Given the description of an element on the screen output the (x, y) to click on. 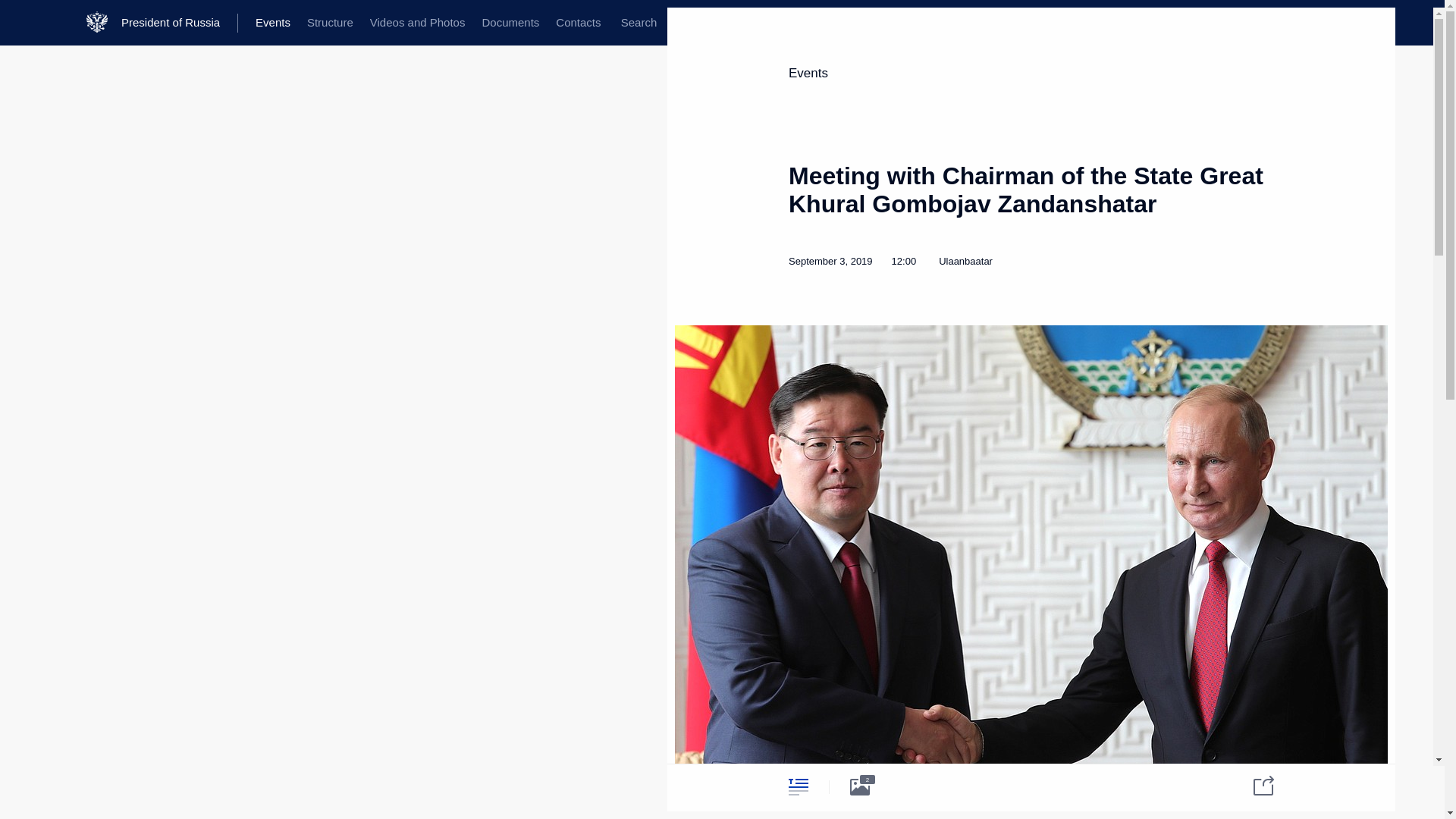
Events (808, 73)
Structure (329, 22)
Contacts (577, 22)
Search (638, 22)
Portal Menu (24, 22)
Global website search (638, 22)
Events (272, 22)
Documents (510, 22)
Text (798, 786)
